Given the description of an element on the screen output the (x, y) to click on. 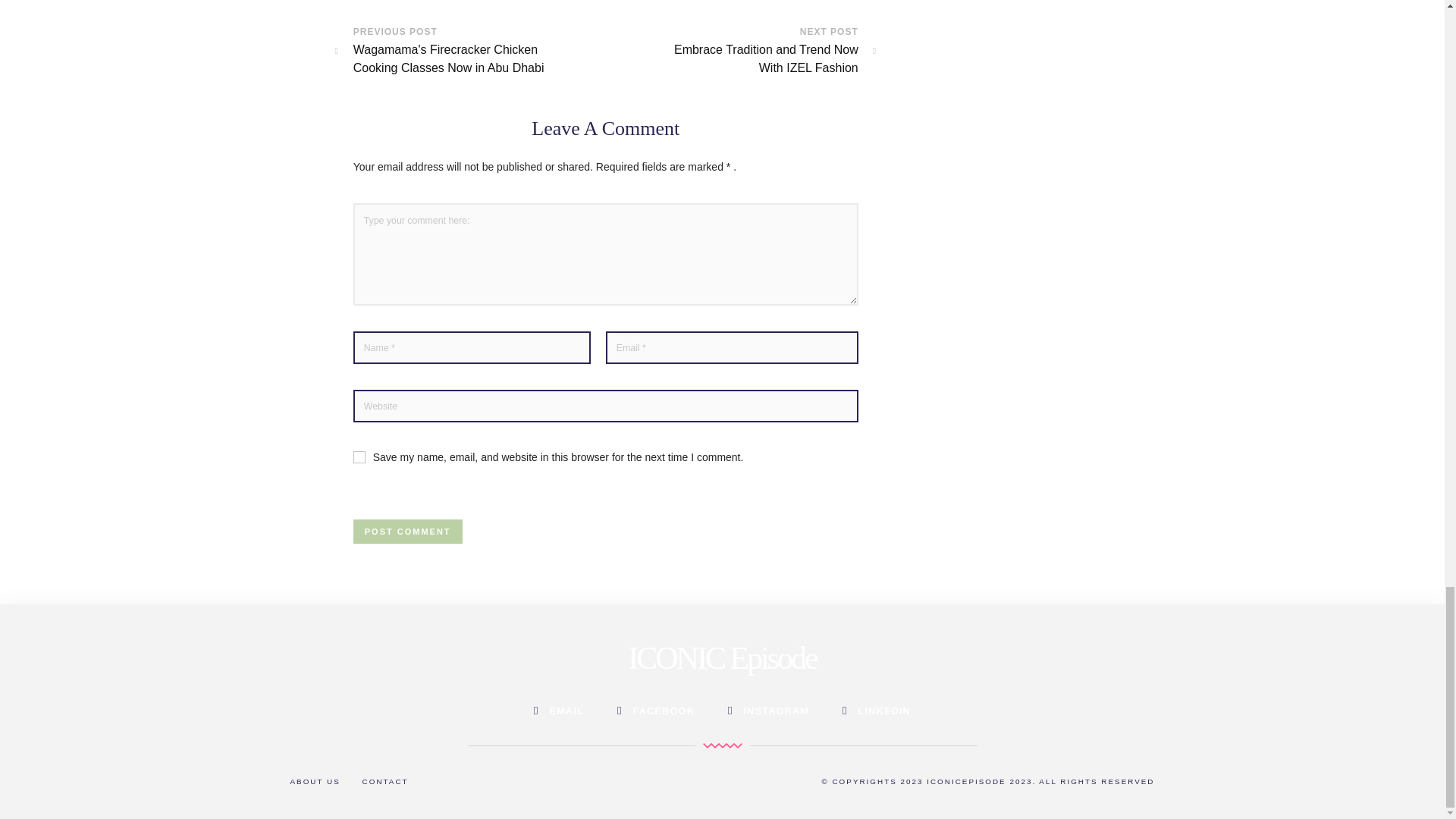
Post Comment (408, 531)
Post Comment (408, 531)
ICONIC Episode (721, 657)
yes (754, 57)
